Given the description of an element on the screen output the (x, y) to click on. 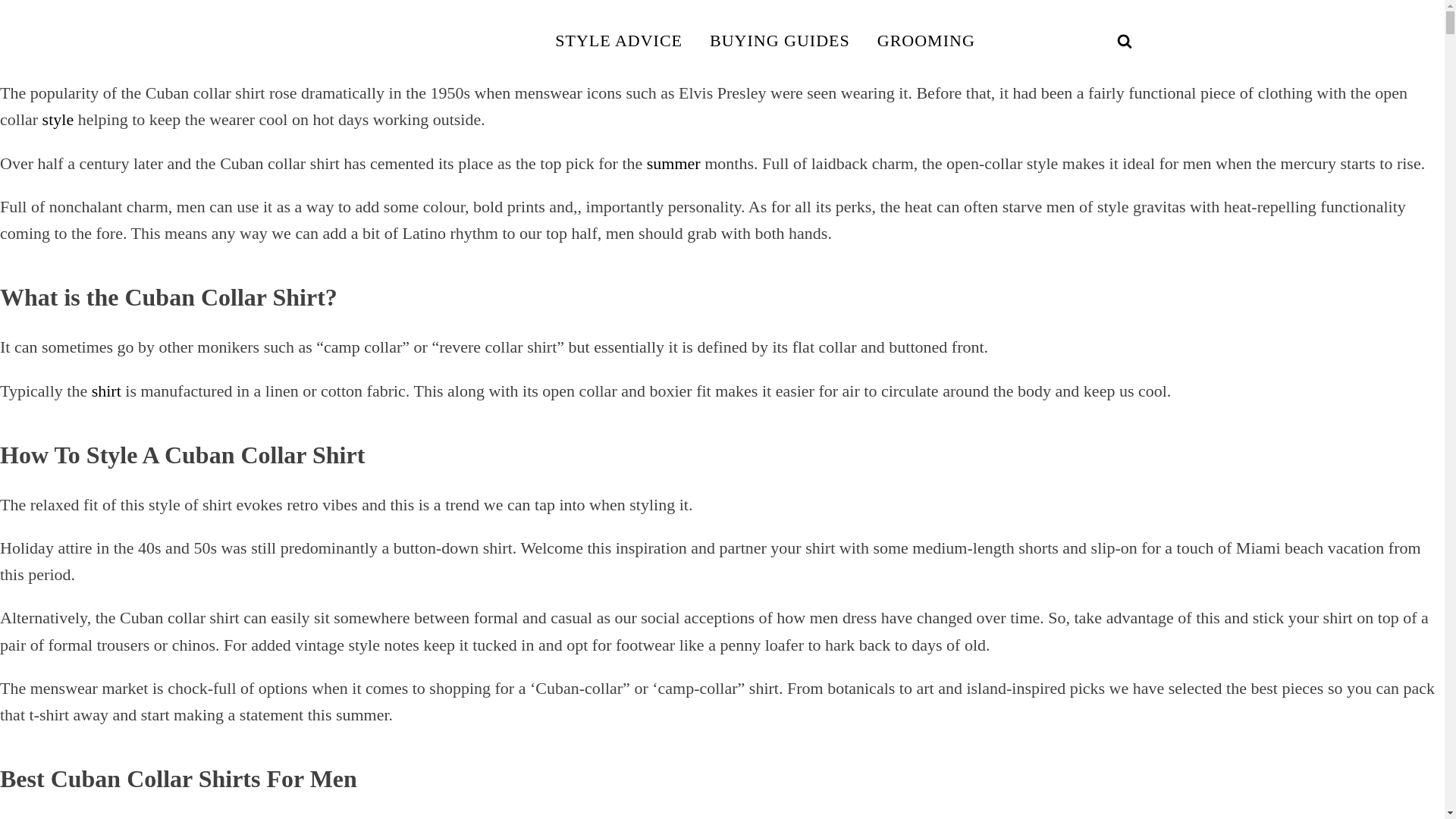
shirt (105, 389)
BUYING GUIDES (779, 40)
STYLE ADVICE (618, 40)
style (58, 118)
GROOMING (925, 40)
summer (673, 162)
